Given the description of an element on the screen output the (x, y) to click on. 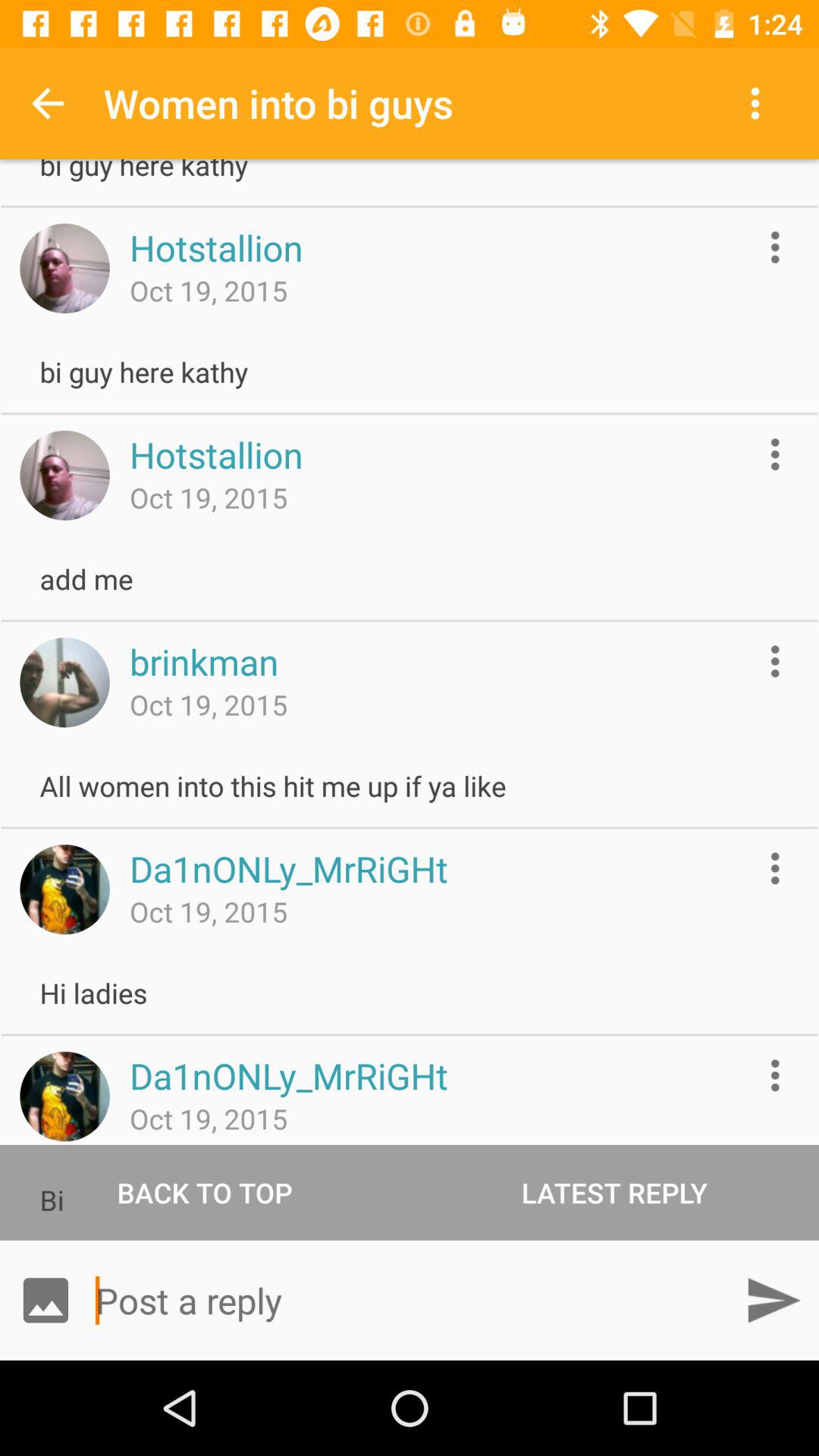
more actions (775, 247)
